Given the description of an element on the screen output the (x, y) to click on. 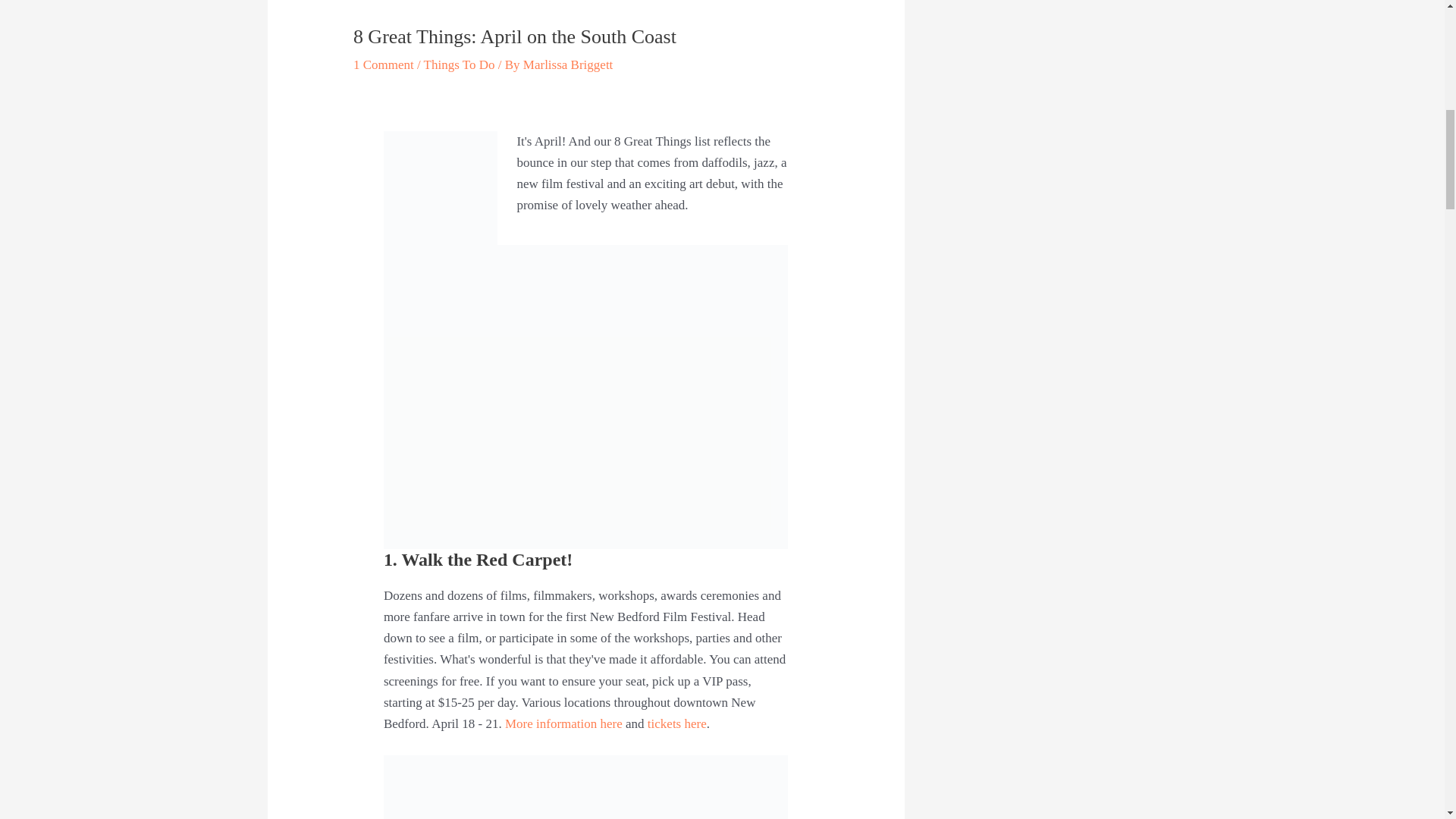
Things To Do (459, 64)
More information here (564, 723)
tickets here (676, 723)
Marlissa Briggett (567, 64)
View all posts by Marlissa Briggett (567, 64)
1 Comment (383, 64)
